Given the description of an element on the screen output the (x, y) to click on. 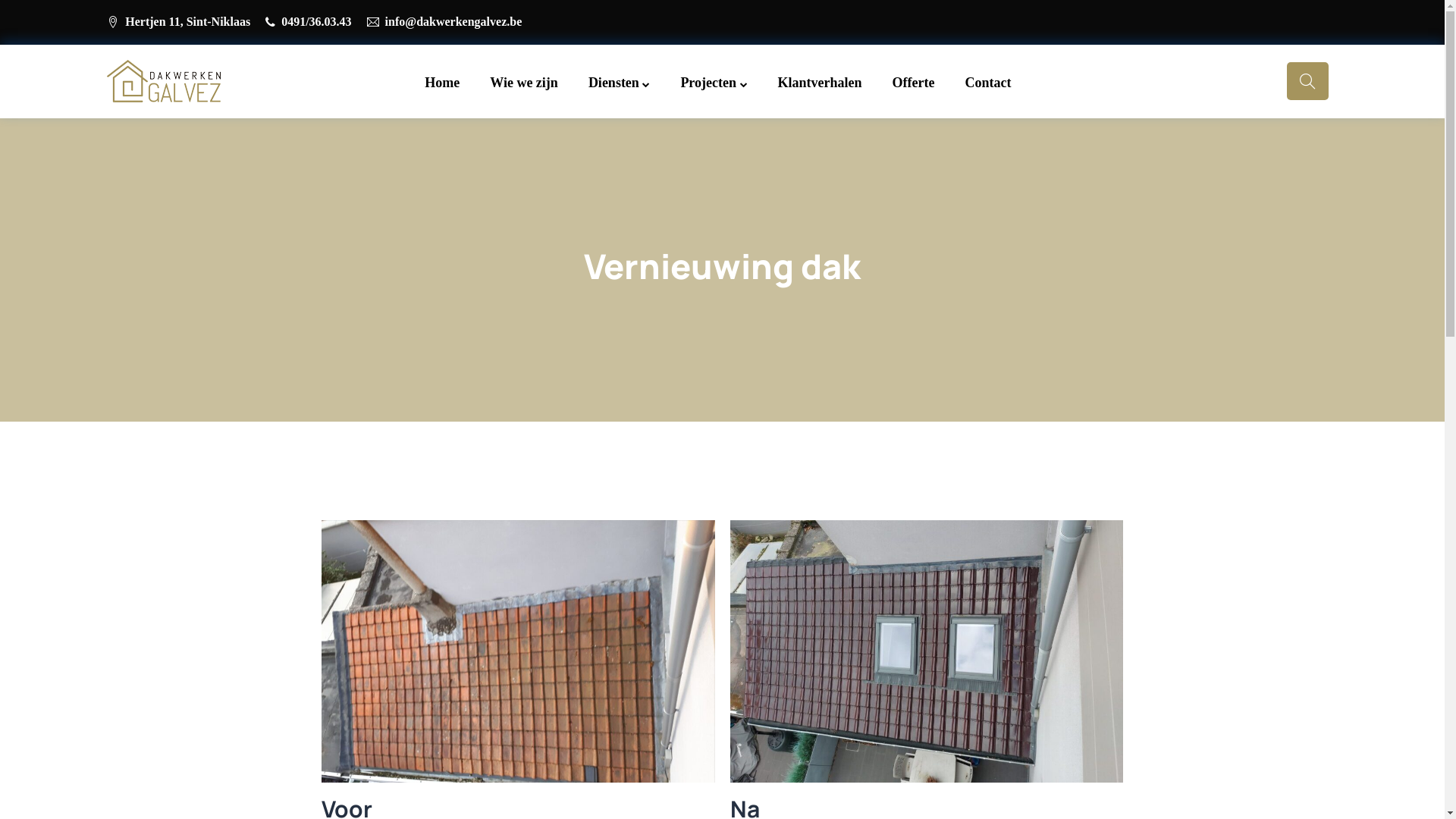
Wie we zijn Element type: text (523, 82)
0491/36.03.43 Element type: text (316, 22)
Home Element type: text (441, 82)
Diensten Element type: text (619, 82)
Projecten Element type: text (713, 82)
Klantverhalen Element type: text (819, 82)
Contact Element type: text (987, 82)
Offerte Element type: text (913, 82)
